Given the description of an element on the screen output the (x, y) to click on. 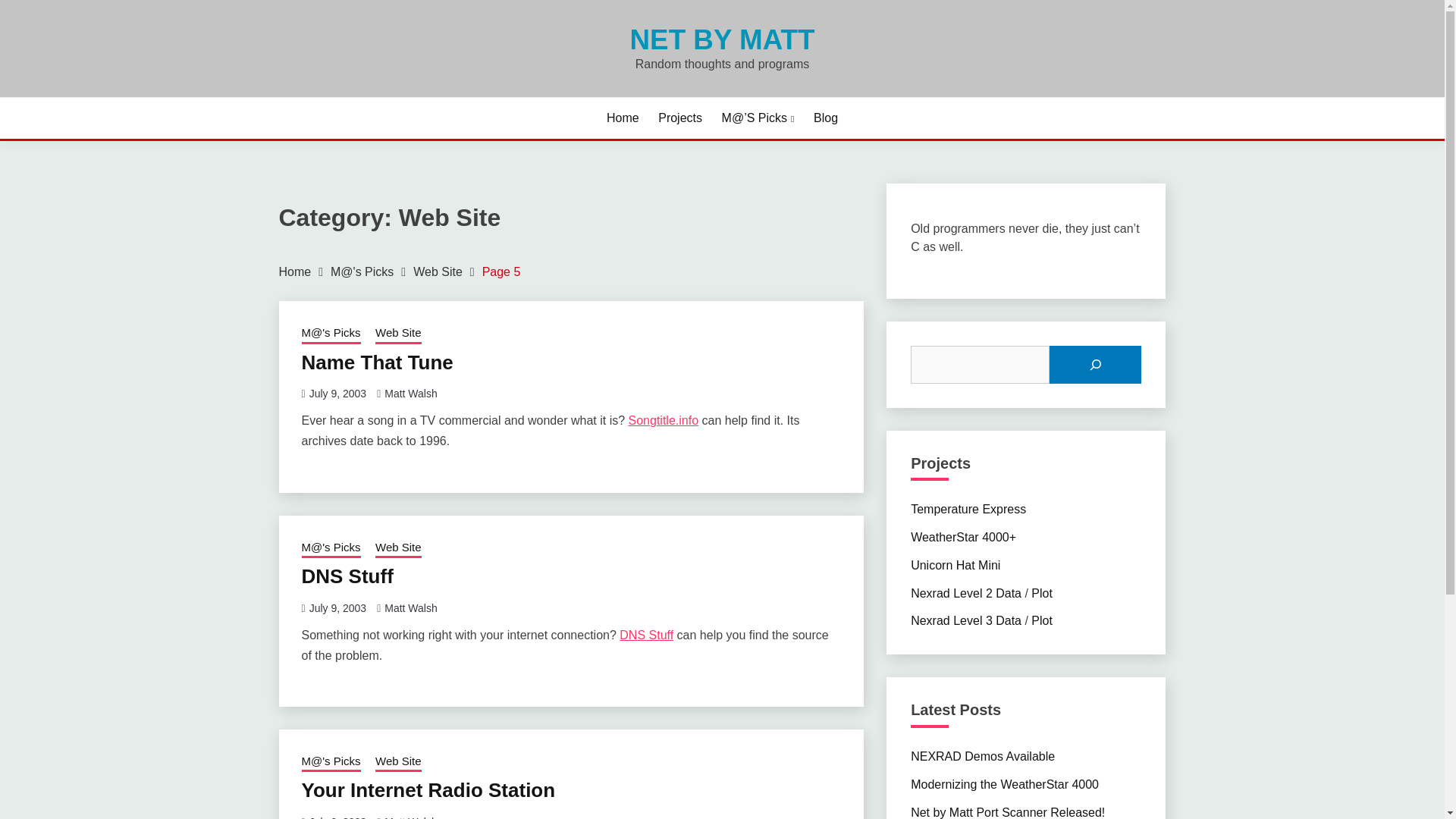
Songtitle.info (663, 420)
Web Site (438, 271)
Your Internet Radio Station (428, 789)
Name That Tune (376, 362)
DNS Stuff (347, 576)
Web Site (398, 762)
Blog (825, 117)
July 9, 2003 (337, 817)
Web Site (398, 548)
DNS Stuff (646, 634)
